Given the description of an element on the screen output the (x, y) to click on. 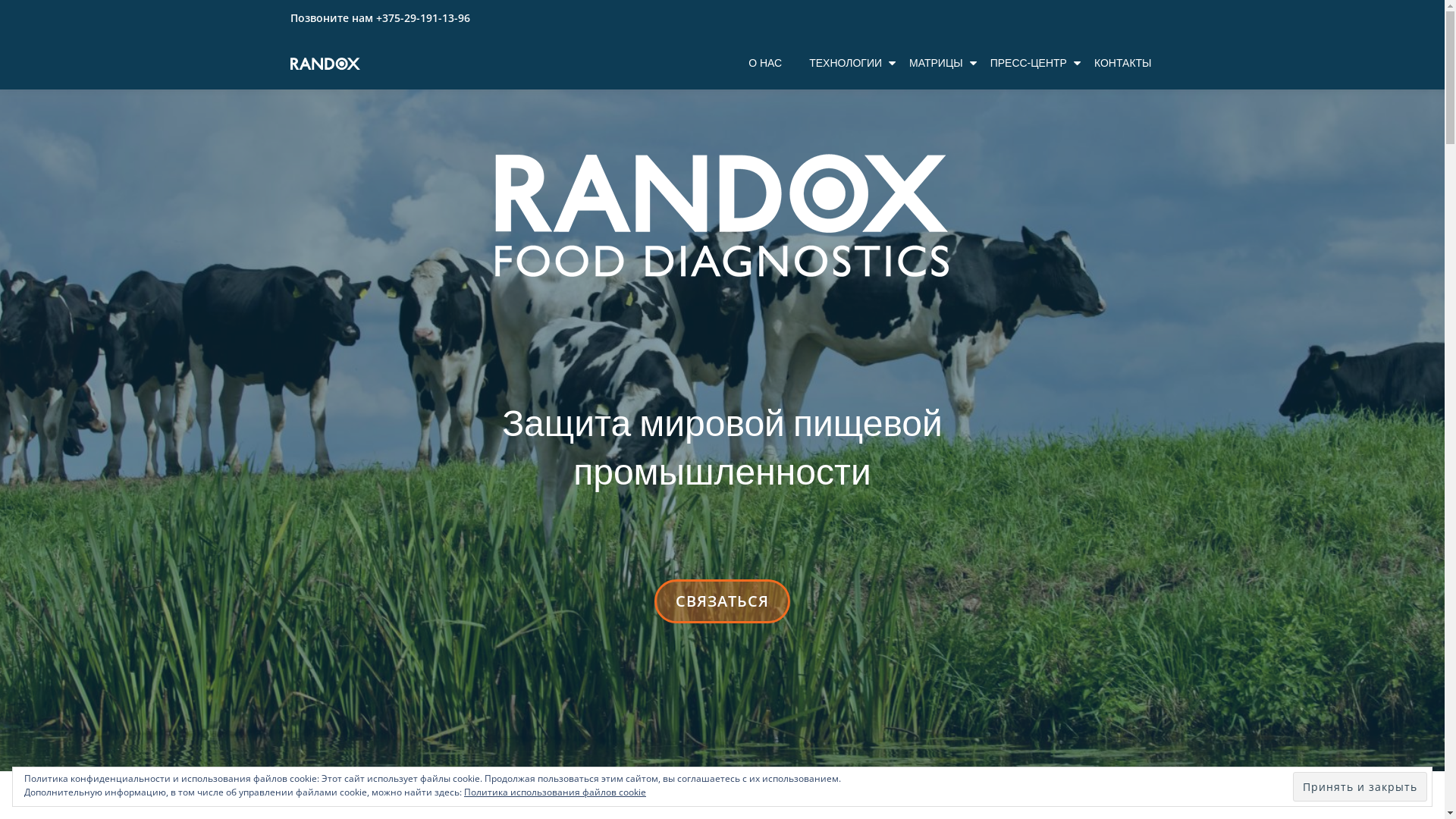
Randox Food Diagnostics Element type: hover (326, 62)
